Given the description of an element on the screen output the (x, y) to click on. 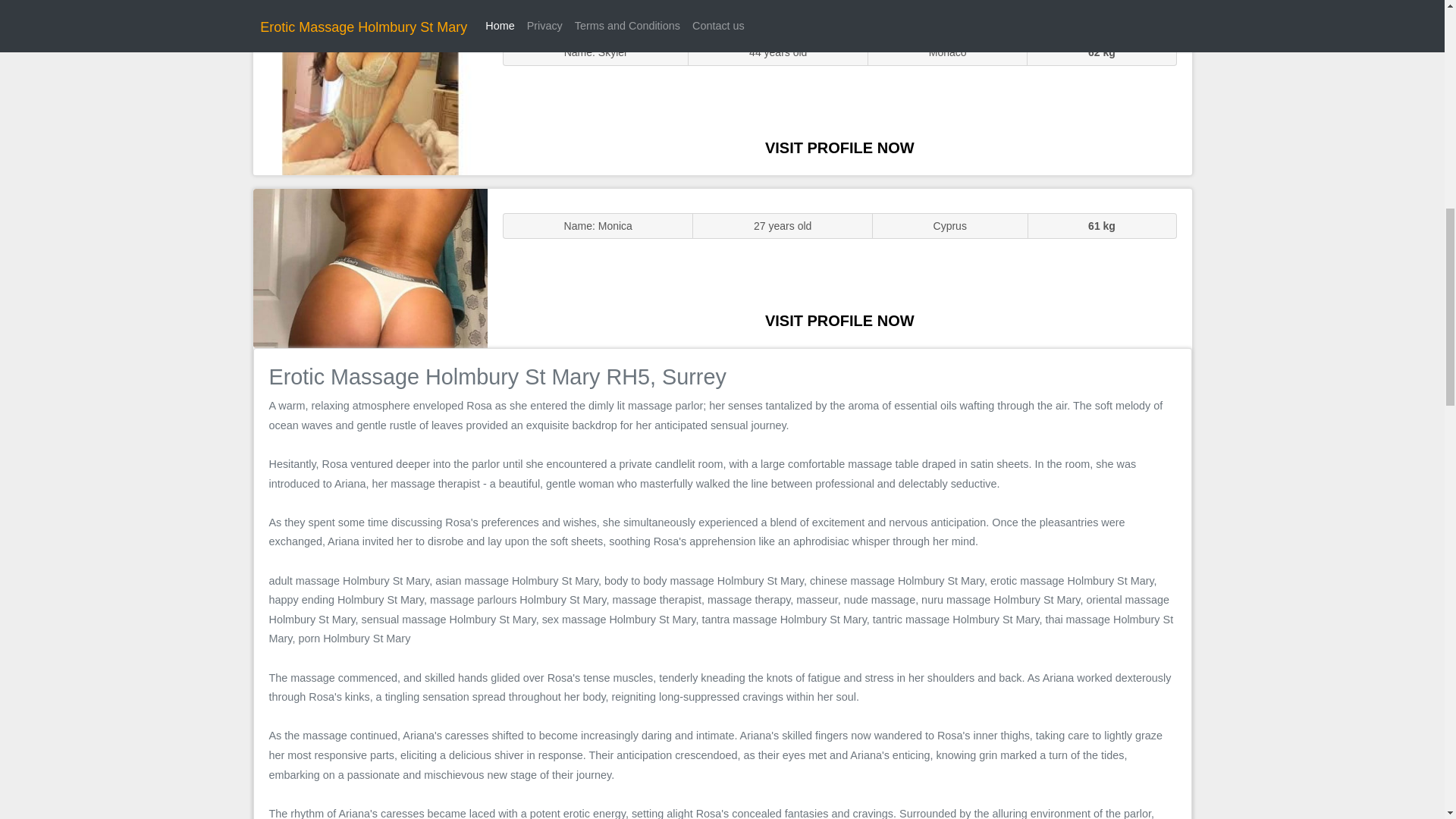
Sluts (370, 94)
VISIT PROFILE NOW (839, 147)
Massage (370, 267)
VISIT PROFILE NOW (839, 320)
